Given the description of an element on the screen output the (x, y) to click on. 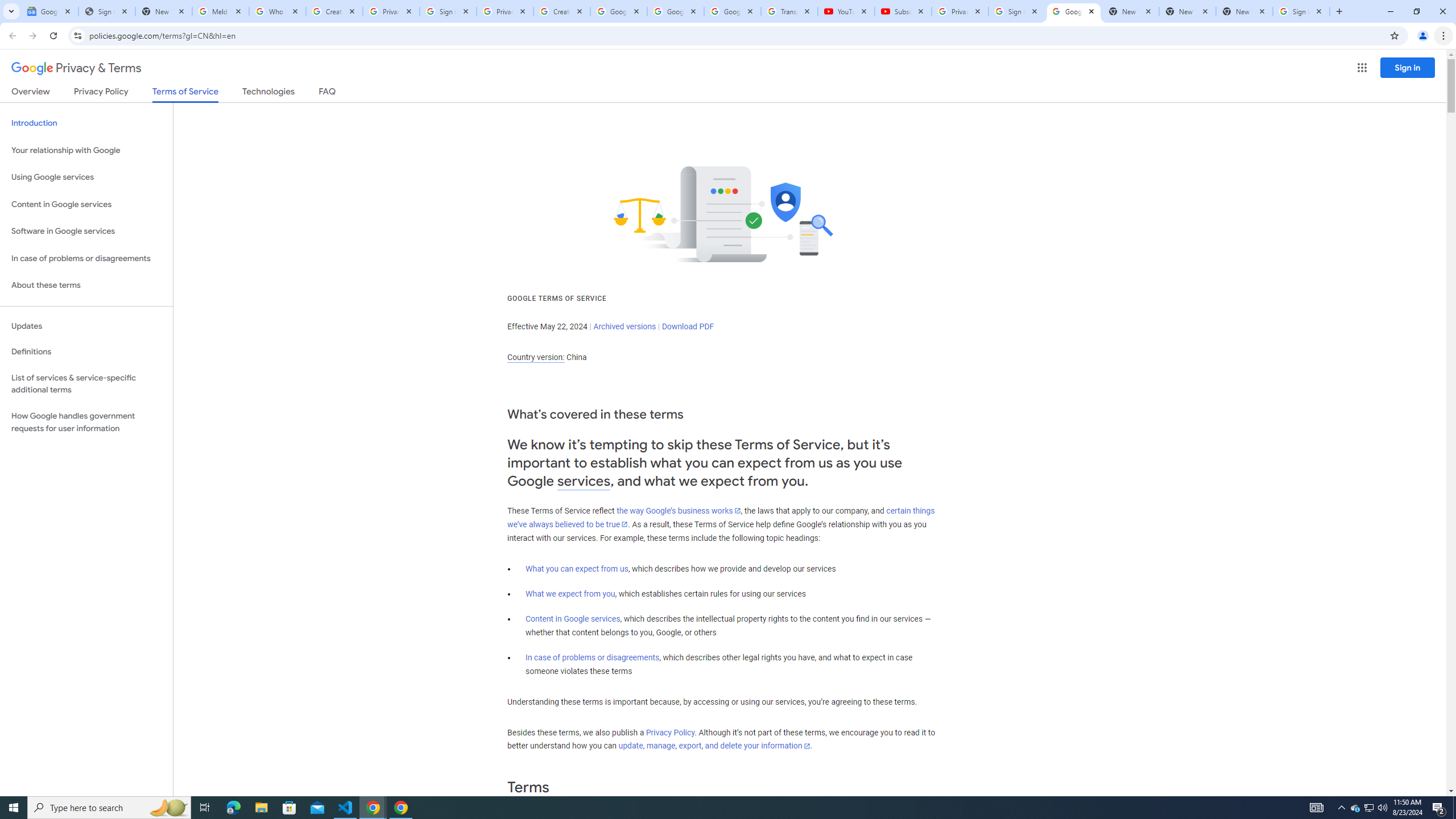
Create your Google Account (334, 11)
Who is my administrator? - Google Account Help (277, 11)
Using Google services (86, 176)
Sign in - Google Accounts (1301, 11)
